Given the description of an element on the screen output the (x, y) to click on. 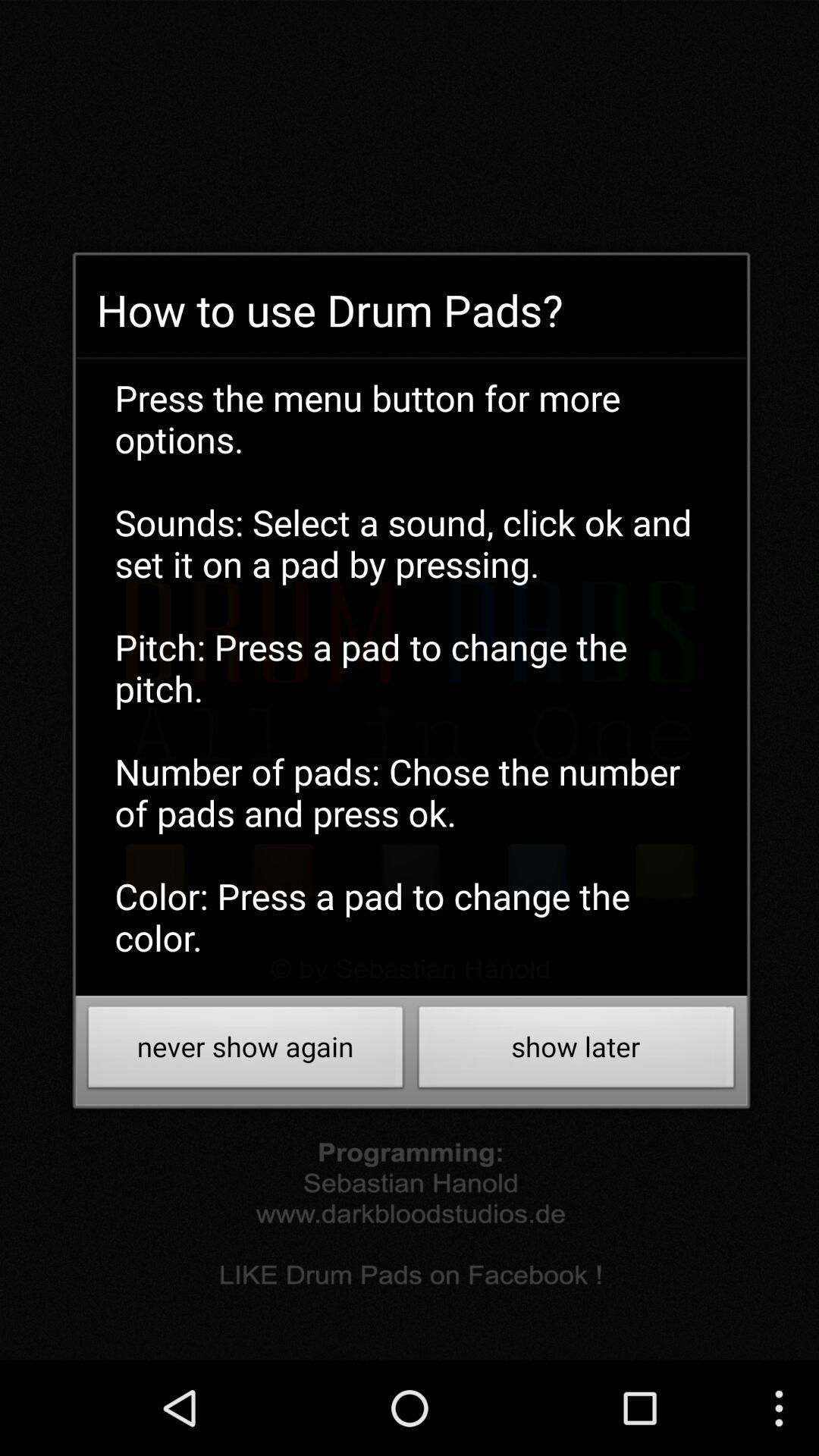
press the item below the press the menu item (245, 1051)
